Given the description of an element on the screen output the (x, y) to click on. 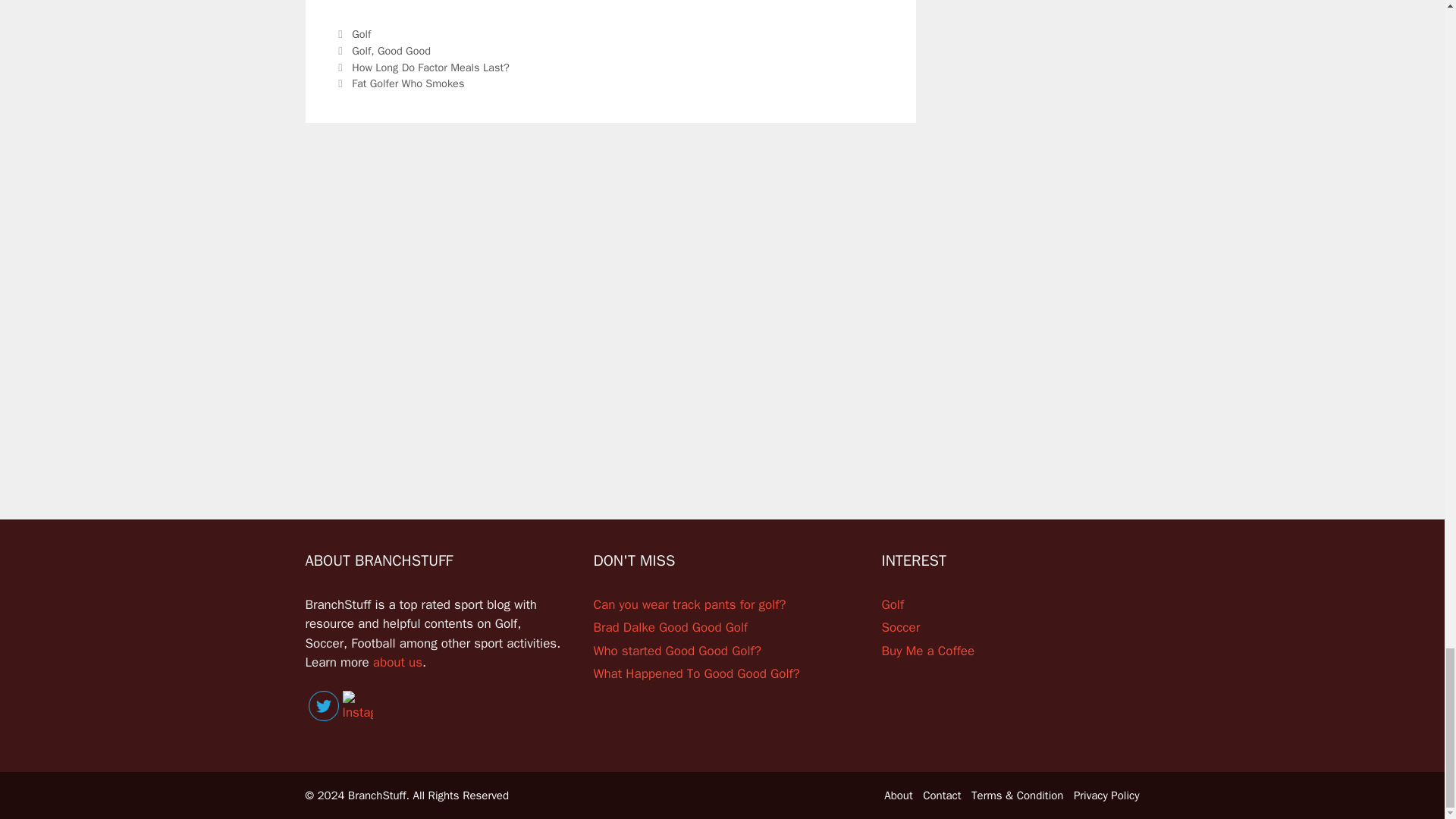
Who started Good Good Golf? (676, 650)
Fat Golfer Who Smokes  (409, 83)
Good Good (403, 50)
Brad Dalke Good Good Golf (670, 627)
Can you wear track pants for golf? (689, 604)
What Happened To Good Good Golf? (695, 673)
Golf (361, 33)
Instagram (357, 706)
Golf (361, 50)
How Long Do Factor Meals Last? (430, 67)
